Given the description of an element on the screen output the (x, y) to click on. 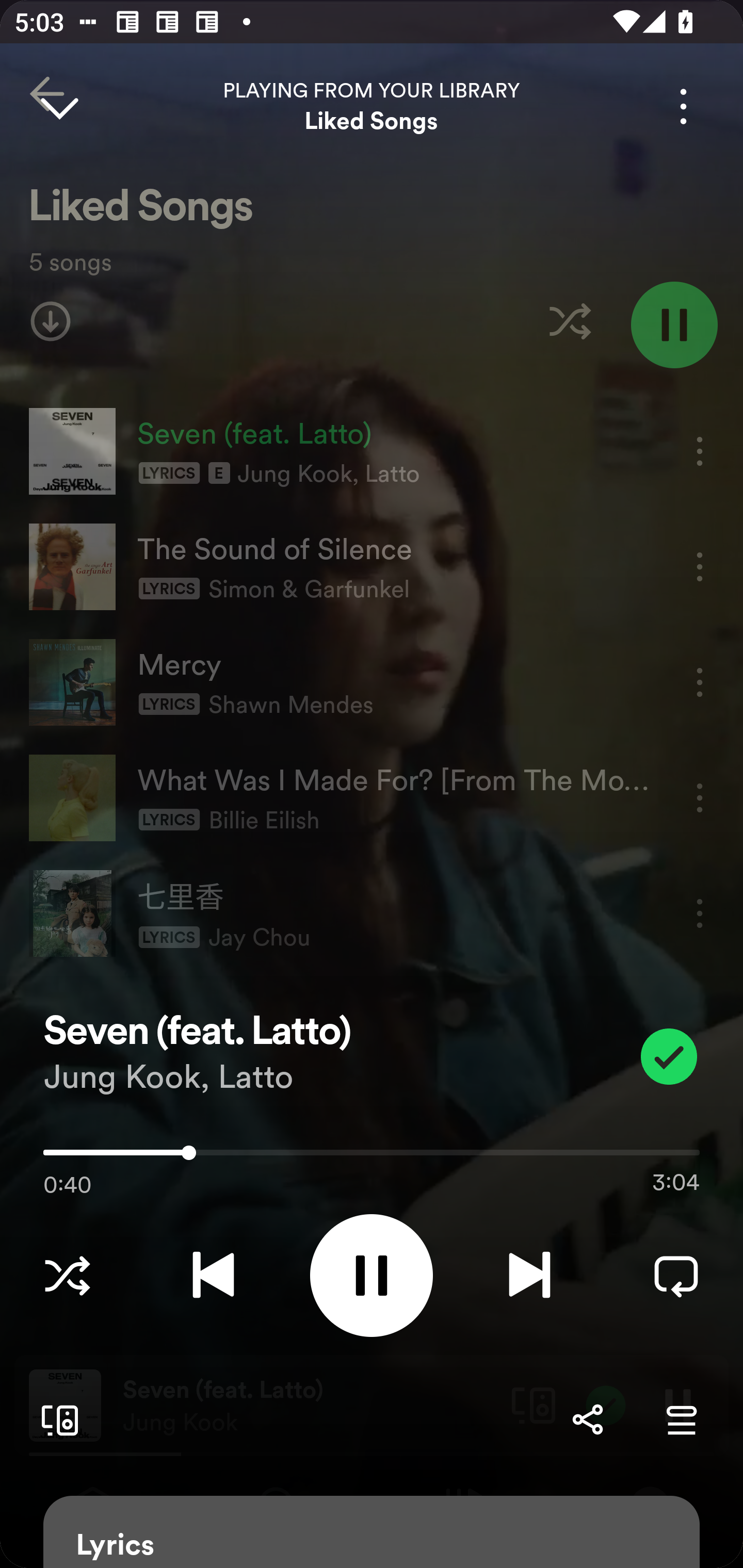
Close (59, 106)
More options for song Seven (feat. Latto) (683, 106)
PLAYING FROM YOUR LIBRARY Liked Songs (371, 106)
Item added (669, 1056)
0:40 3:04 40507.0 Use volume keys to adjust (371, 1157)
Pause (371, 1275)
Previous (212, 1275)
Next (529, 1275)
Choose a Listening Mode (66, 1275)
Repeat (676, 1275)
Share (587, 1419)
Go to Queue (681, 1419)
Connect to a device. Opens the devices menu (55, 1419)
Lyrics (371, 1531)
